Given the description of an element on the screen output the (x, y) to click on. 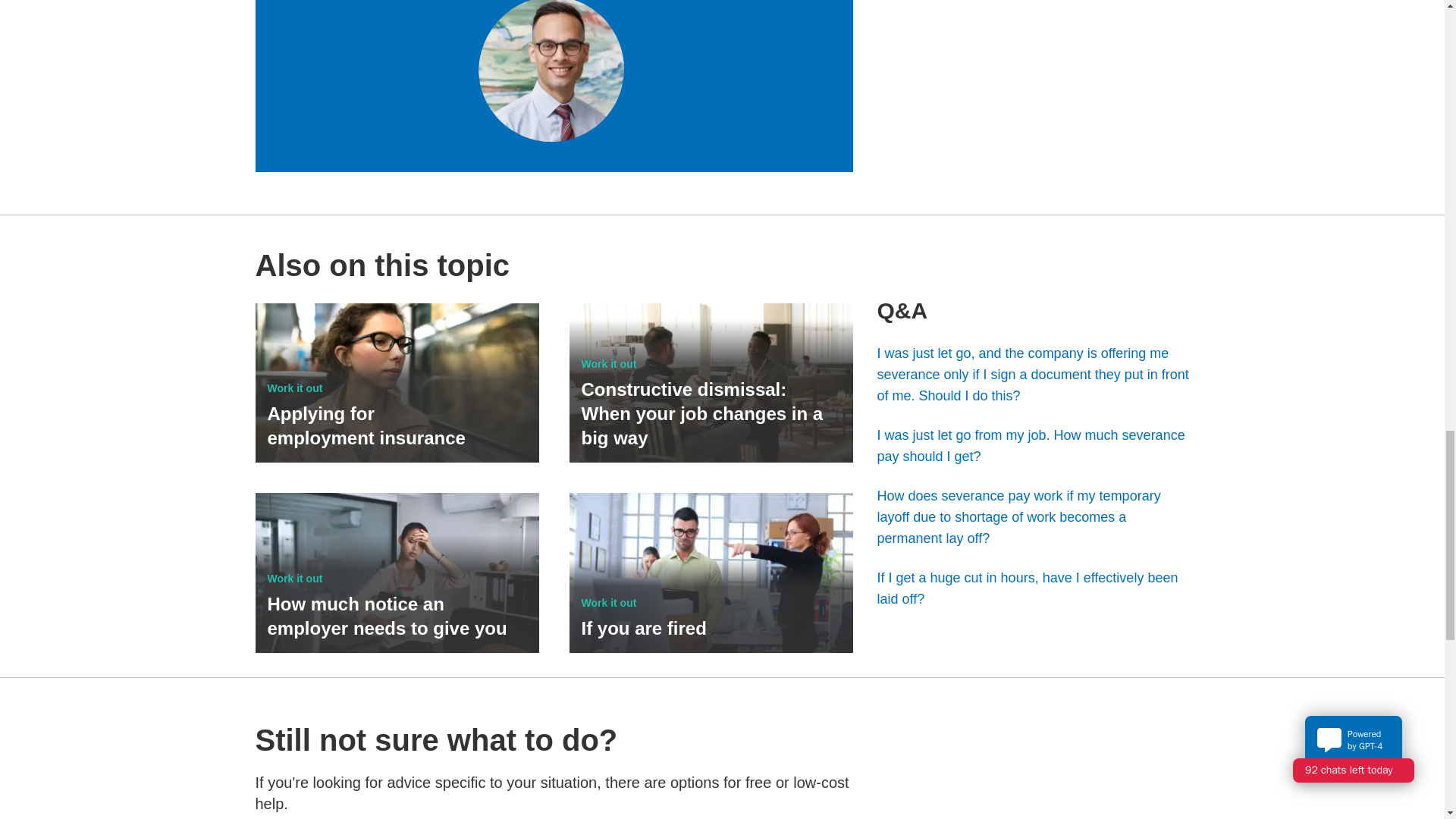
Trevor Thomas (550, 70)
